Given the description of an element on the screen output the (x, y) to click on. 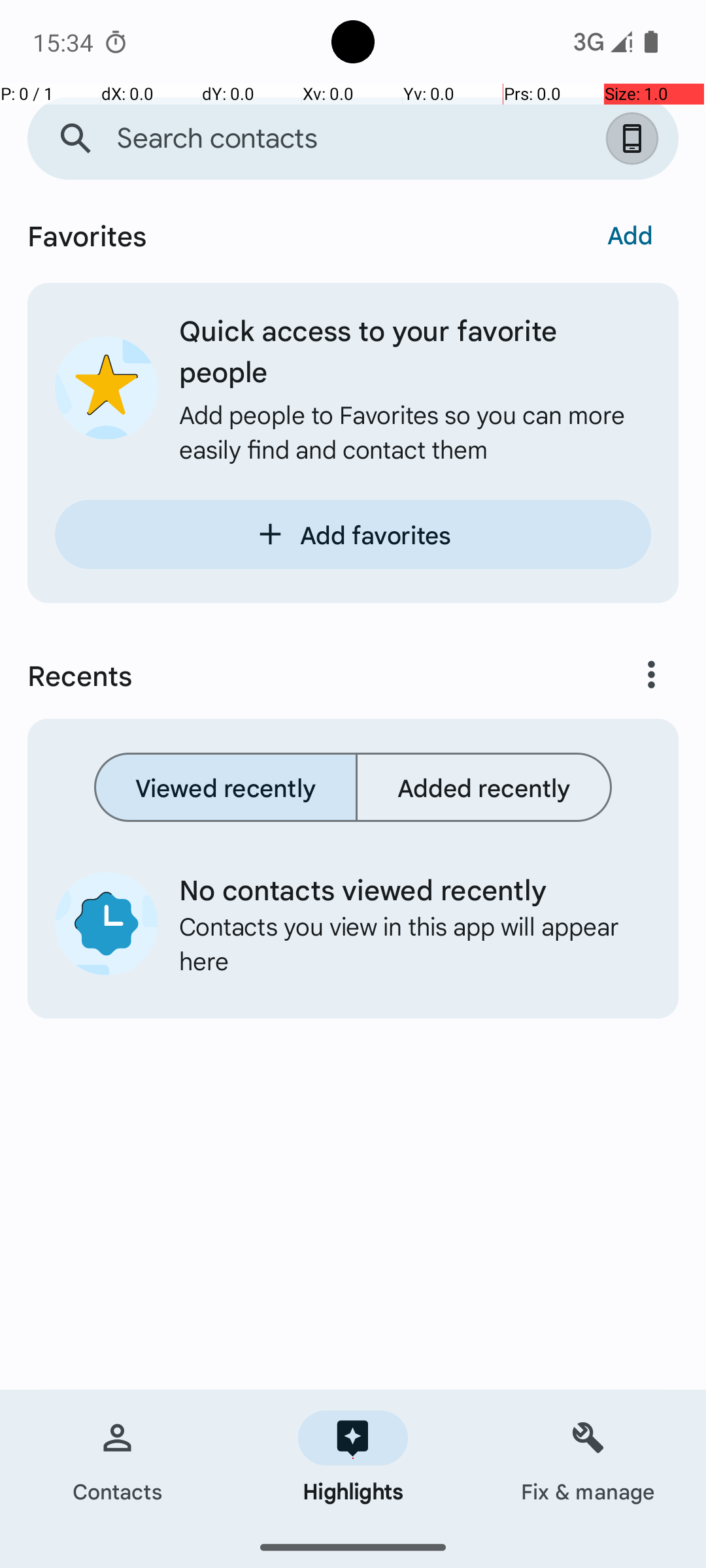
No contacts viewed recently Element type: android.widget.TextView (404, 888)
Contacts you view in this app will appear here Element type: android.widget.TextView (404, 942)
